Given the description of an element on the screen output the (x, y) to click on. 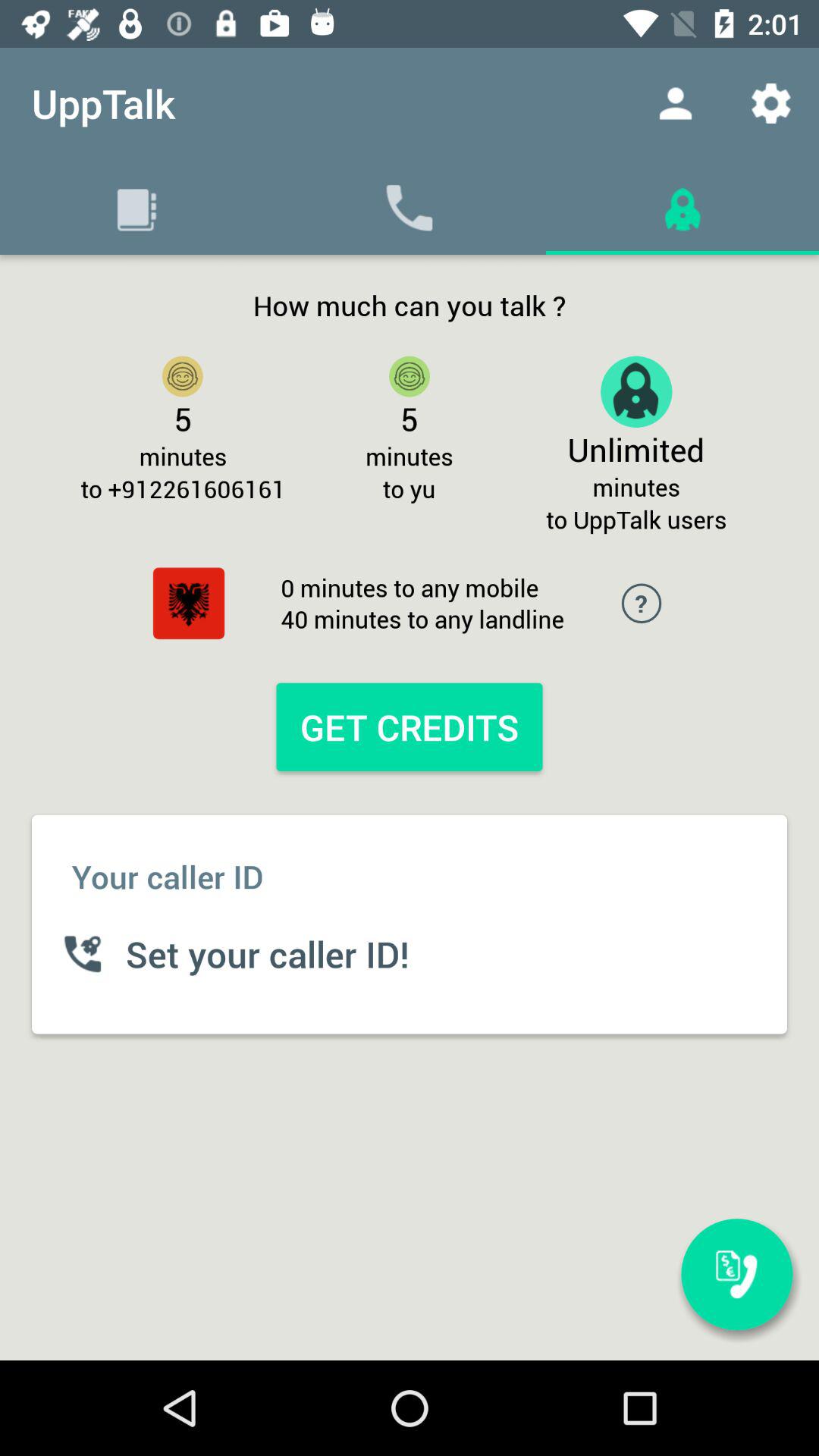
turn on the icon below the to upptalk users icon (737, 1274)
